Given the description of an element on the screen output the (x, y) to click on. 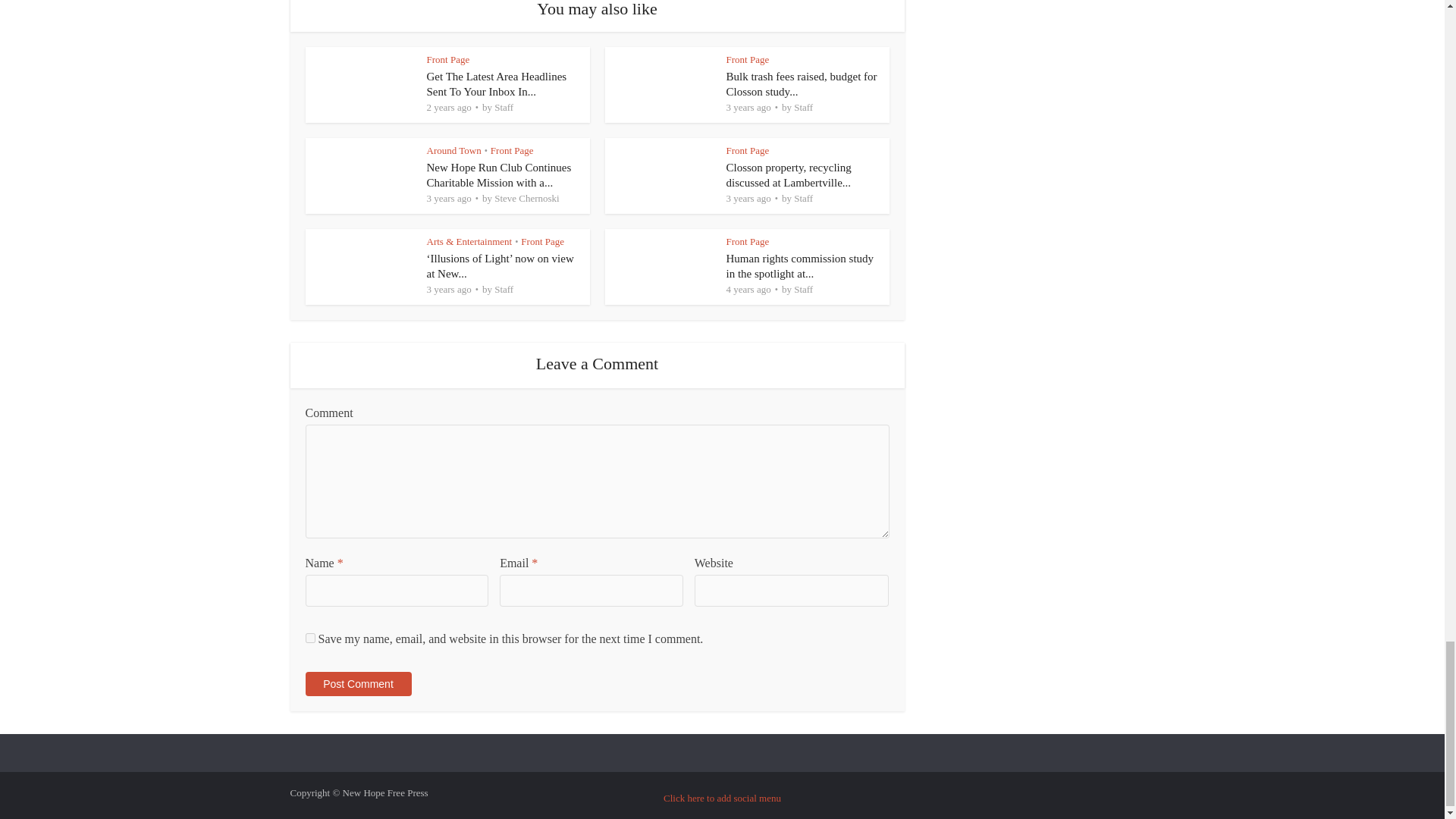
yes (309, 637)
Post Comment (357, 683)
Front Page (447, 59)
Staff (504, 106)
Get The Latest Area Headlines Sent To Your Inbox In 2023! (496, 83)
Get The Latest Area Headlines Sent To Your Inbox In... (496, 83)
Front Page (748, 59)
